Given the description of an element on the screen output the (x, y) to click on. 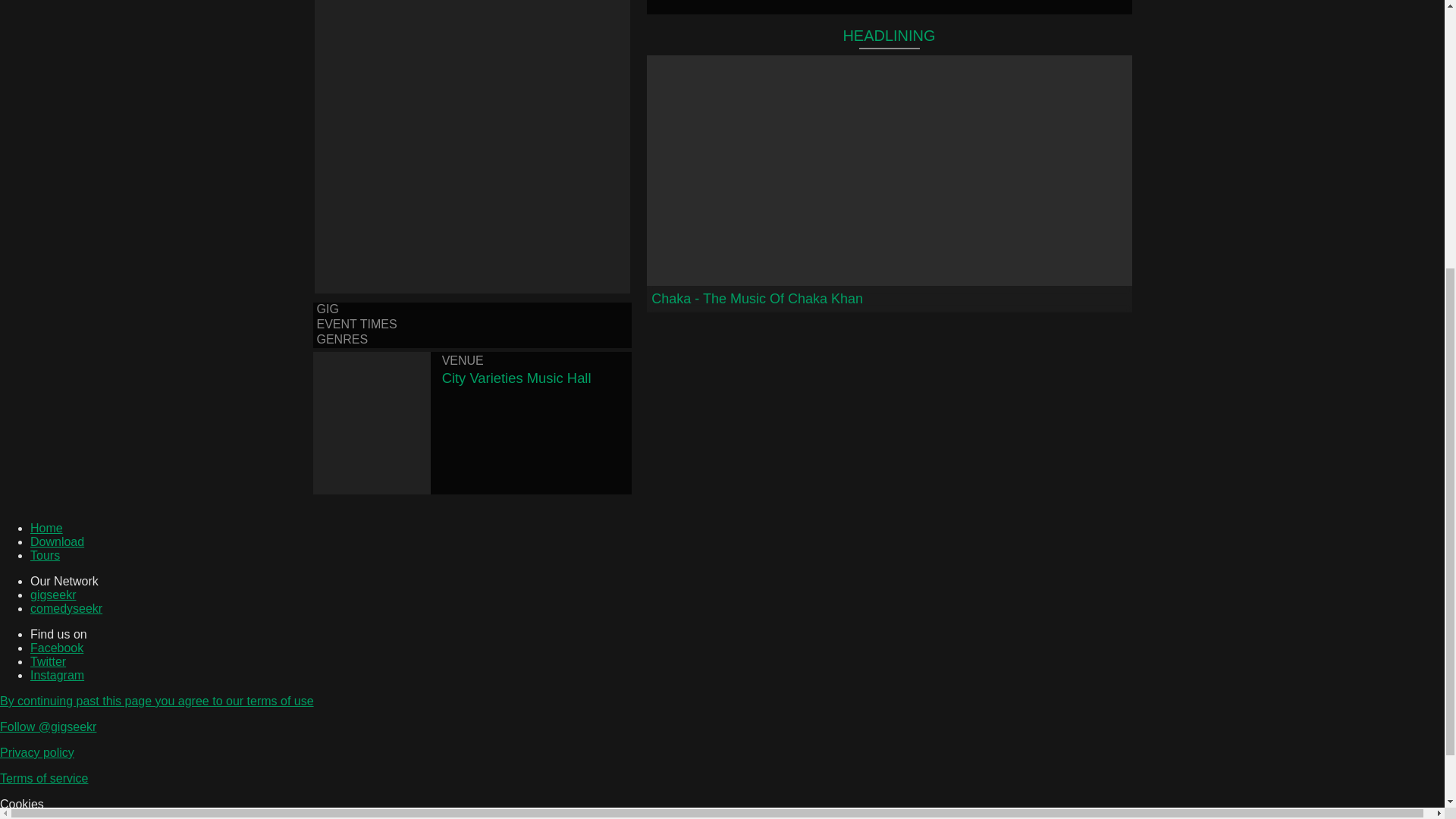
By continuing past this page you agree to our terms of use (157, 700)
gigseekr (52, 594)
Tours (44, 554)
Instagram (57, 675)
Terms of service (43, 778)
comedyseekr (65, 608)
Home (46, 527)
Chaka - The Music Of Chaka Khan (888, 183)
Facebook (56, 647)
Privacy policy (37, 752)
Download (57, 541)
Twitter (47, 661)
